Given the description of an element on the screen output the (x, y) to click on. 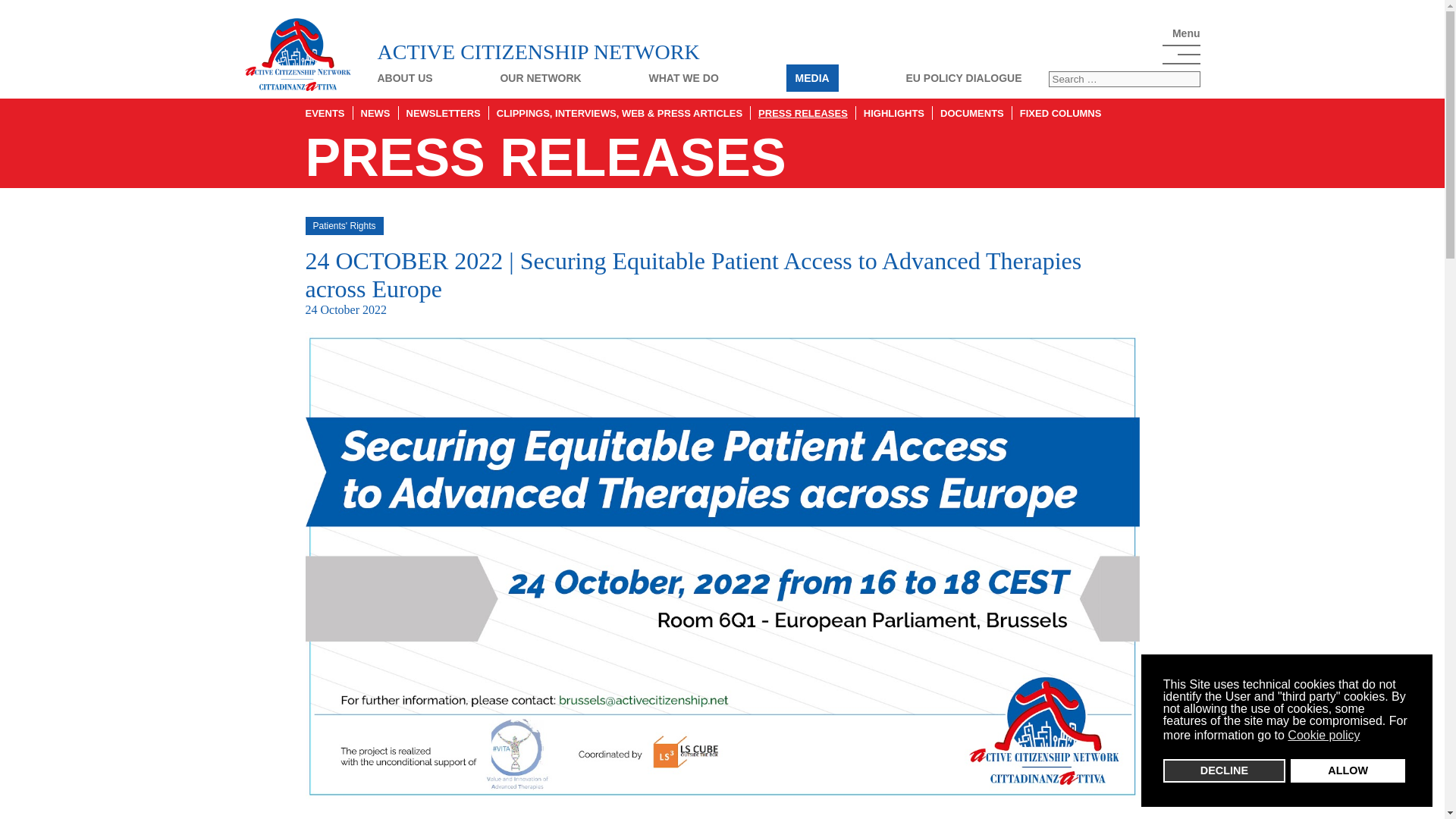
ABOUT US (404, 78)
Cookie policy (1324, 735)
DECLINE (1224, 770)
ALLOW (1347, 770)
